Given the description of an element on the screen output the (x, y) to click on. 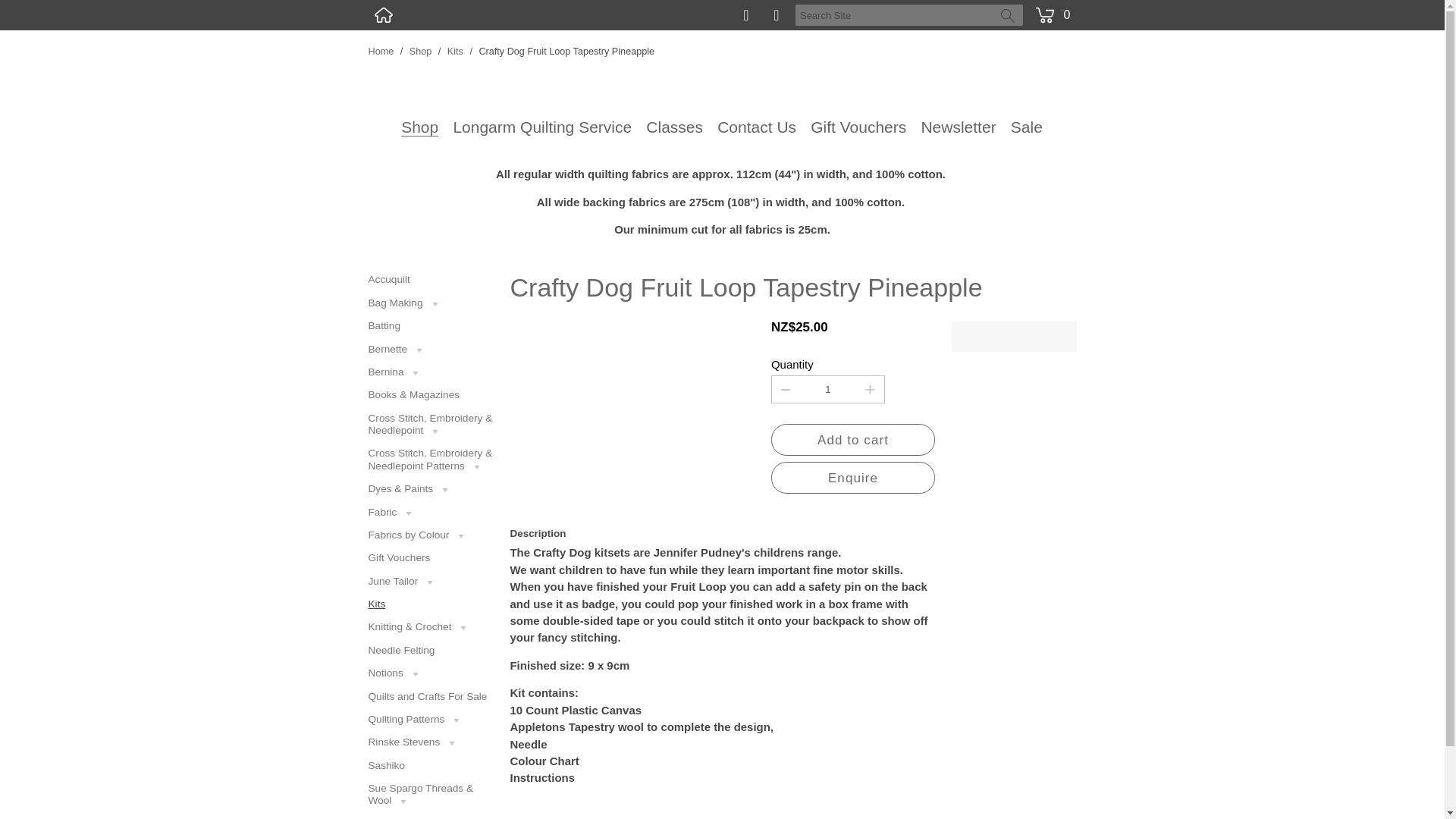
Shop (419, 126)
Sale (1026, 126)
Classes (674, 126)
Fabric      (430, 512)
Gift Vouchers (857, 126)
Home (381, 51)
Newsletter (957, 126)
Instagram (776, 15)
Cart (1050, 5)
Shop (420, 51)
Bernina      (430, 372)
Kits (454, 51)
Bag Making      (430, 303)
Accuquilt (430, 279)
